Given the description of an element on the screen output the (x, y) to click on. 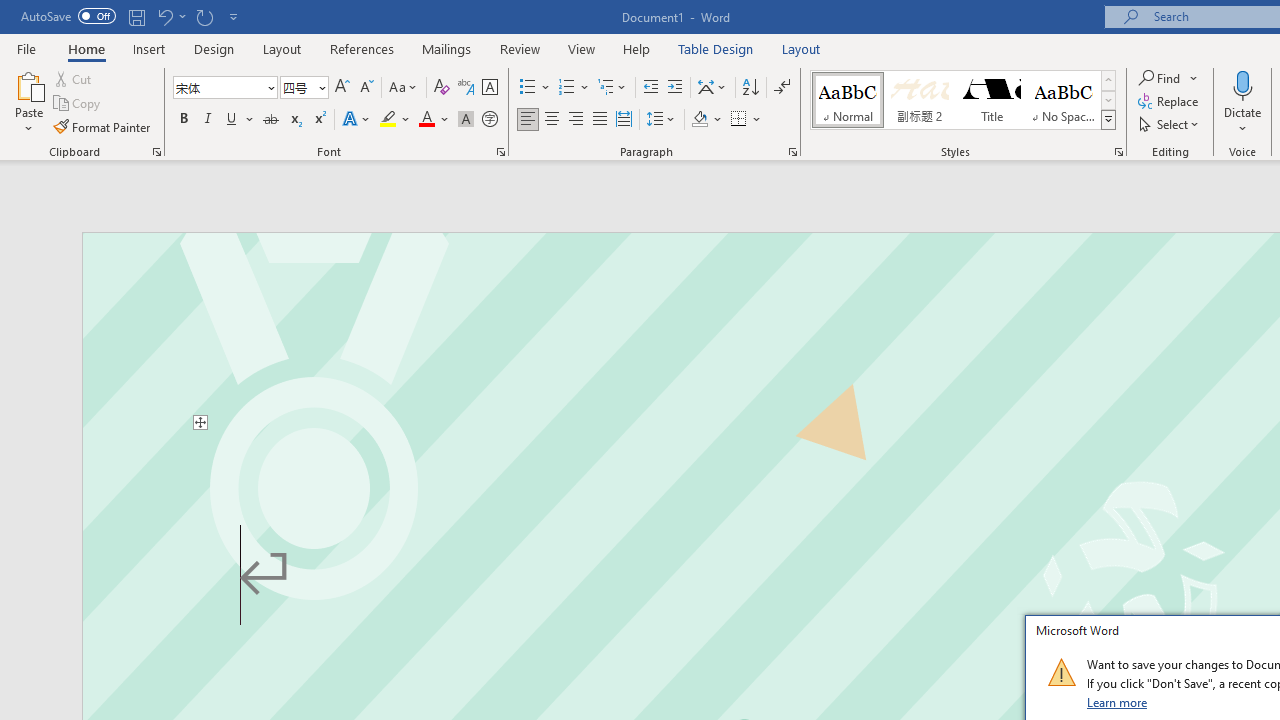
Select (1170, 124)
Title (991, 100)
